Given the description of an element on the screen output the (x, y) to click on. 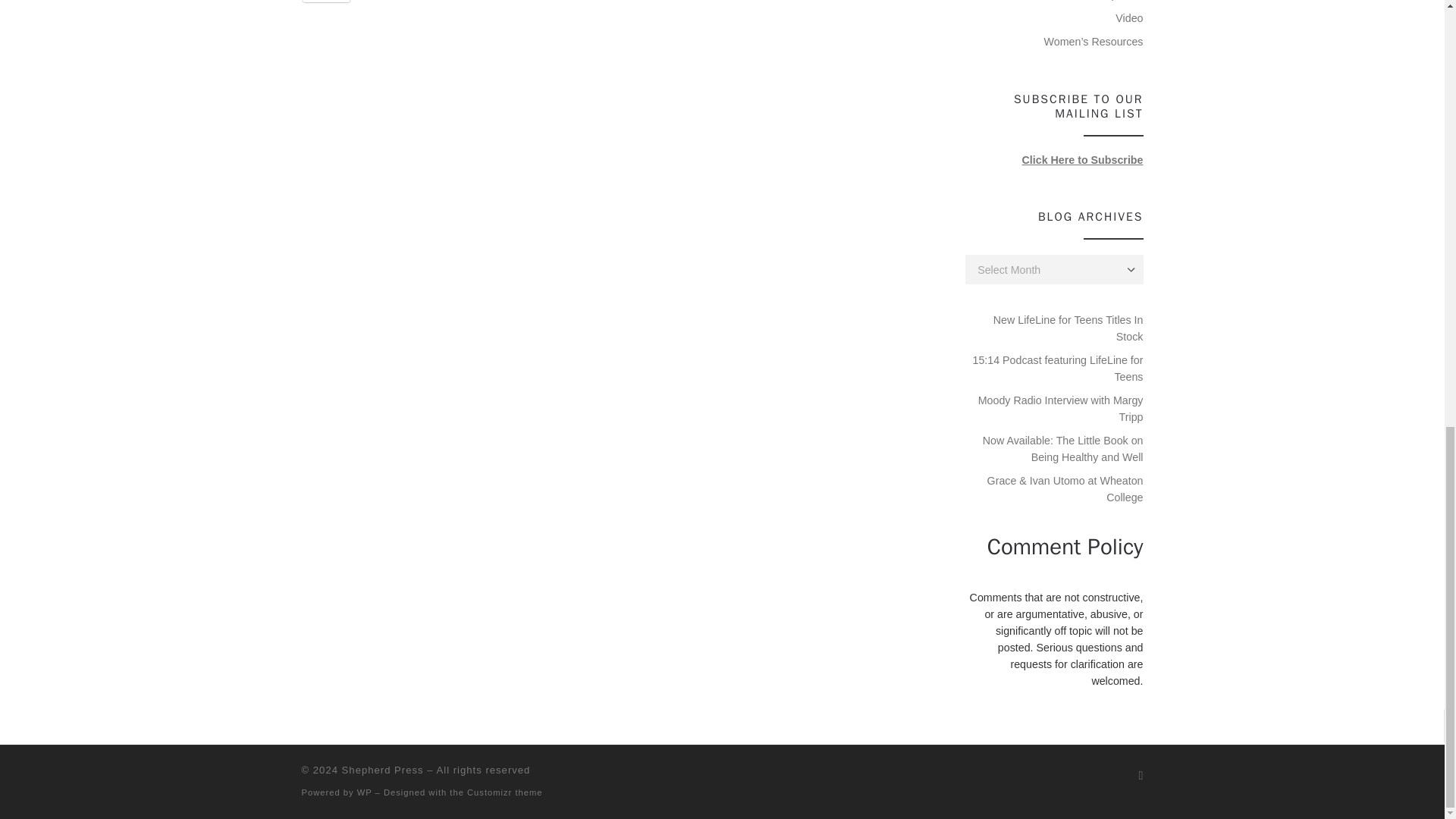
Customizr theme (505, 791)
Like or Reblog (614, 10)
Shepherd Press (382, 769)
Powered by WordPress (364, 791)
